Given the description of an element on the screen output the (x, y) to click on. 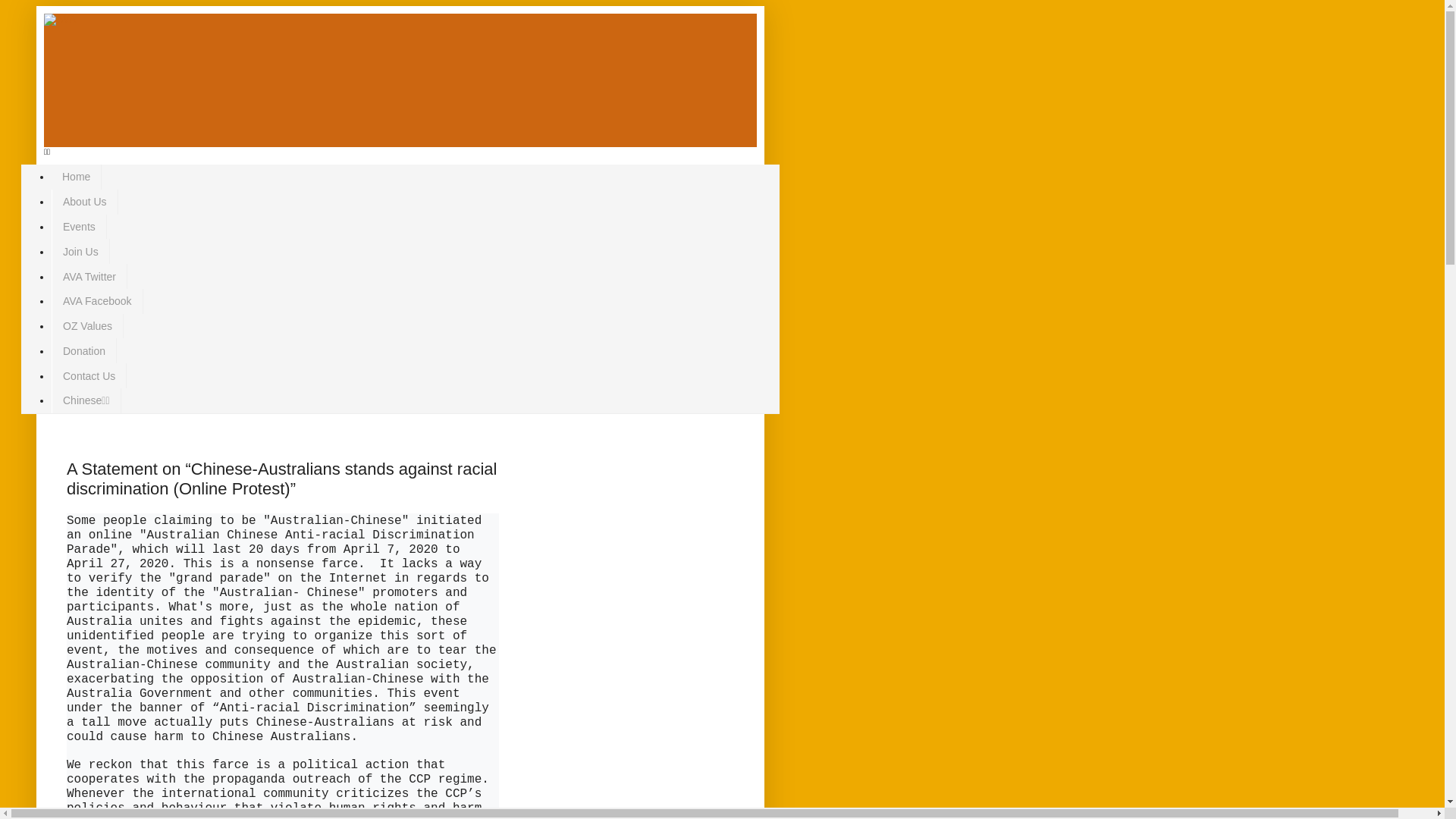
Join Us Element type: text (80, 250)
AVA Twitter Element type: text (89, 275)
About Us Element type: text (84, 201)
OZ Values Element type: text (87, 325)
Home Element type: text (76, 176)
Events Element type: text (78, 226)
Donation Element type: text (83, 350)
Contact Us Element type: text (88, 375)
AVA Facebook Element type: text (97, 300)
